Given the description of an element on the screen output the (x, y) to click on. 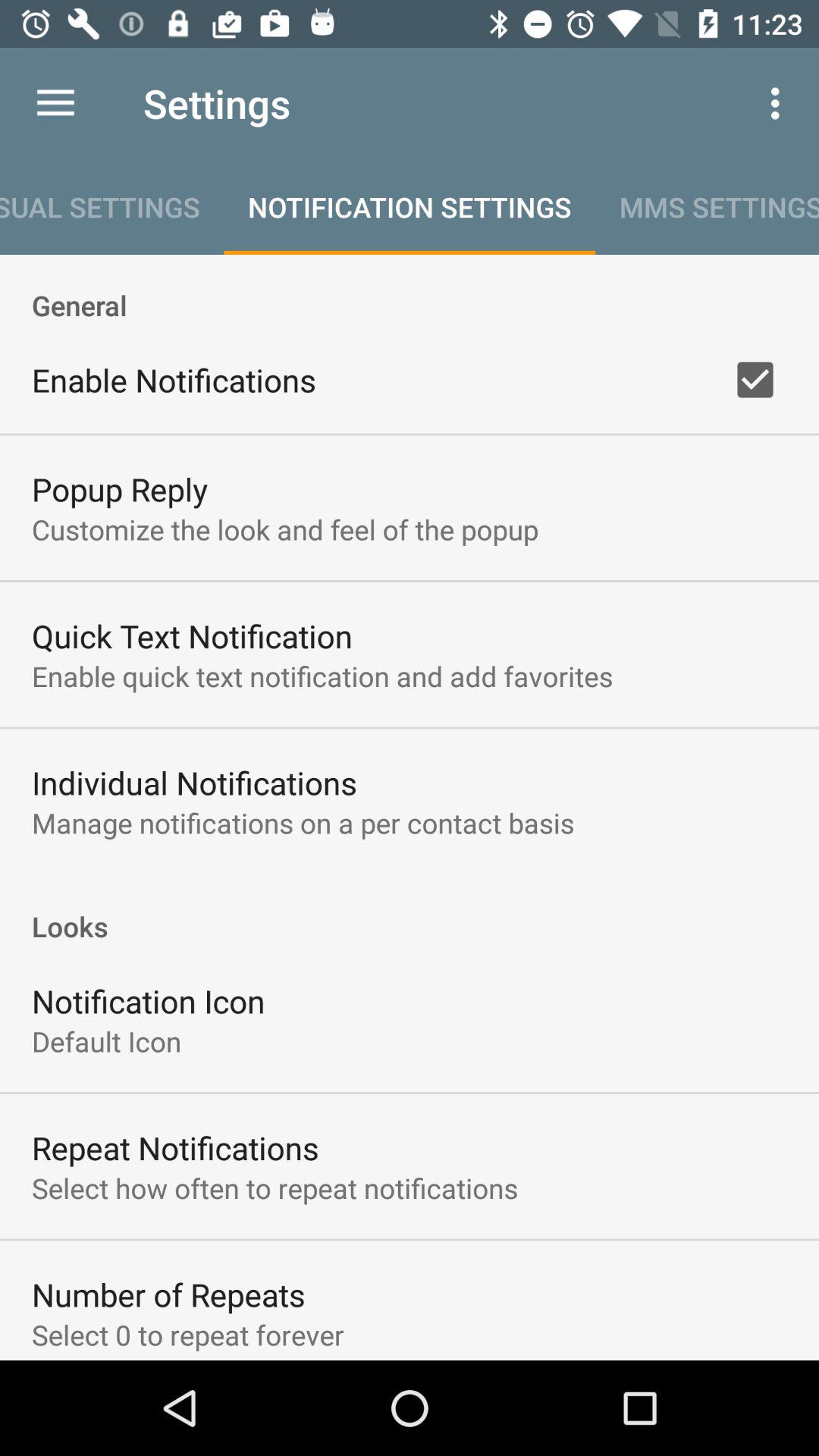
select icon below the repeat notifications icon (274, 1187)
